Given the description of an element on the screen output the (x, y) to click on. 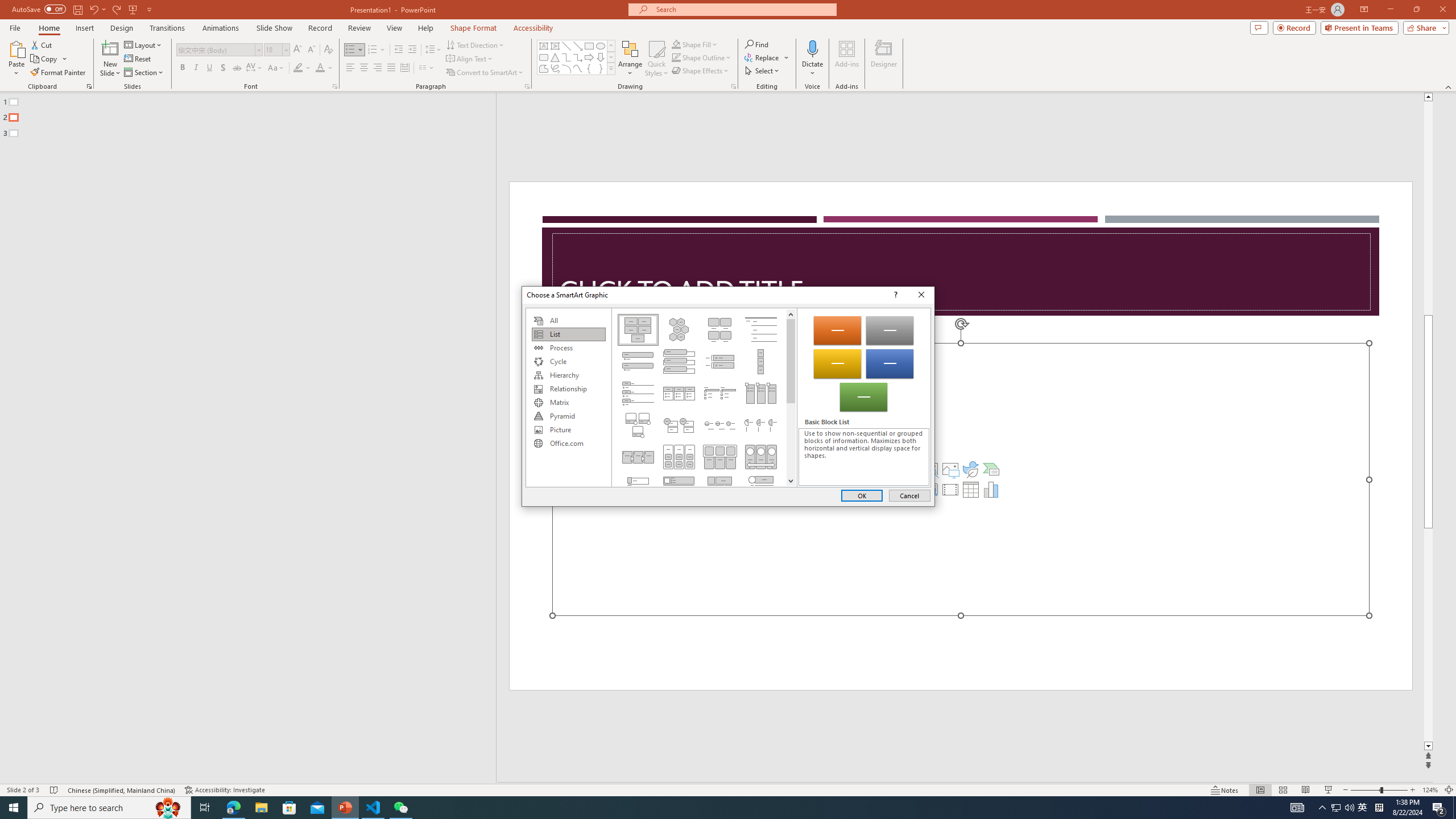
Insert Chart (991, 489)
Present in Teams (1359, 27)
Redo (117, 9)
Reading View (1305, 790)
Shape Fill Orange, Accent 2 (675, 44)
Start (13, 807)
Quick Access Toolbar (82, 9)
Insert Table (970, 489)
Class: NetUIImage (610, 68)
Text Box (543, 45)
Class: NetUITextbox (862, 456)
Collapse the Ribbon (1448, 86)
Paste (16, 48)
Font (219, 49)
AutomationID: 4105 (1297, 807)
